Given the description of an element on the screen output the (x, y) to click on. 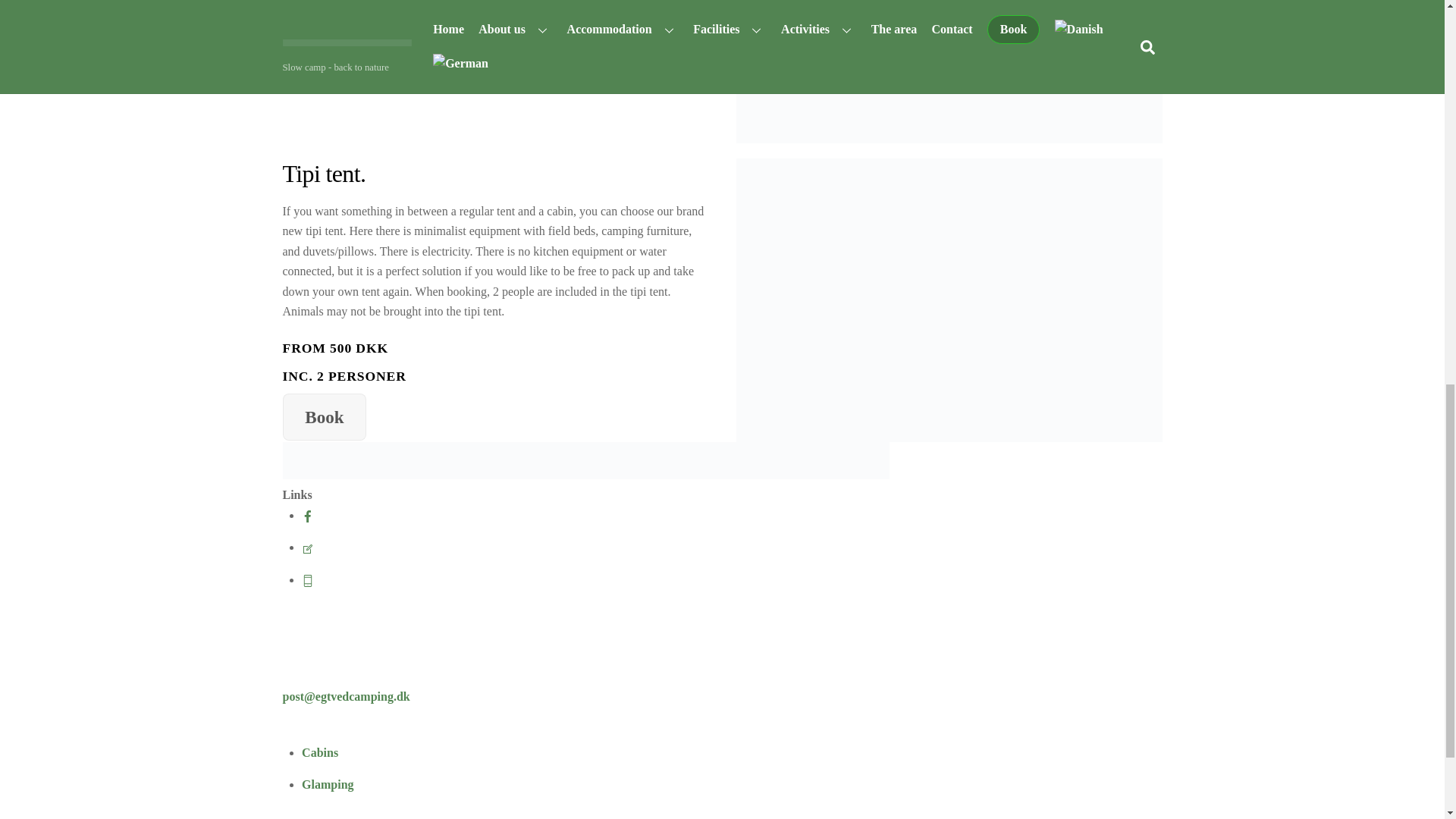
tipi (948, 300)
Egtved Camping (585, 474)
Book (324, 42)
